Given the description of an element on the screen output the (x, y) to click on. 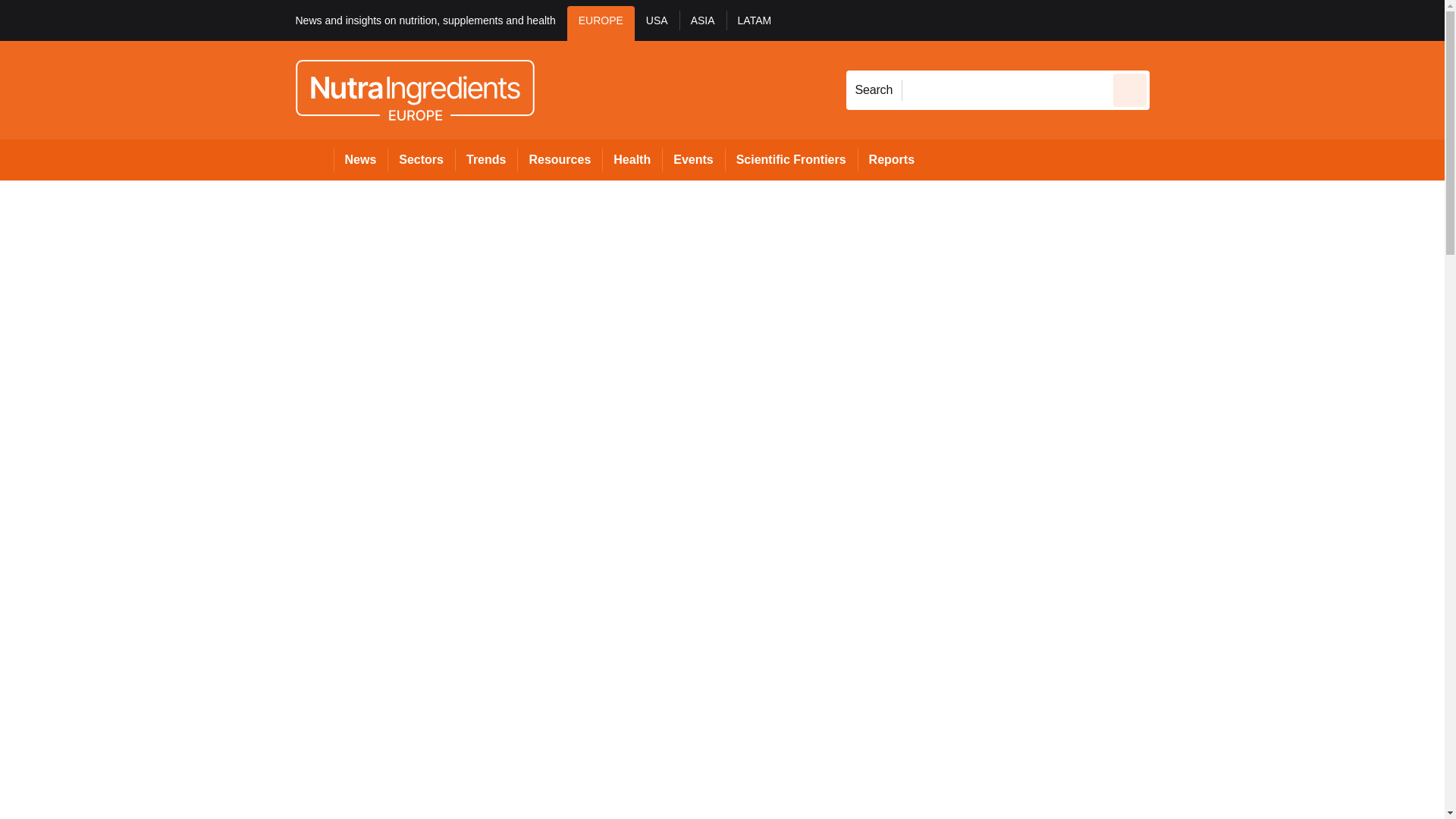
Send (1129, 90)
Sign in (1171, 20)
ASIA (702, 22)
USA (656, 22)
My account (1256, 20)
NutraIngredients Europe (414, 89)
LATAM (754, 22)
Send (1129, 89)
Sign out (1174, 20)
Home (314, 159)
